Given the description of an element on the screen output the (x, y) to click on. 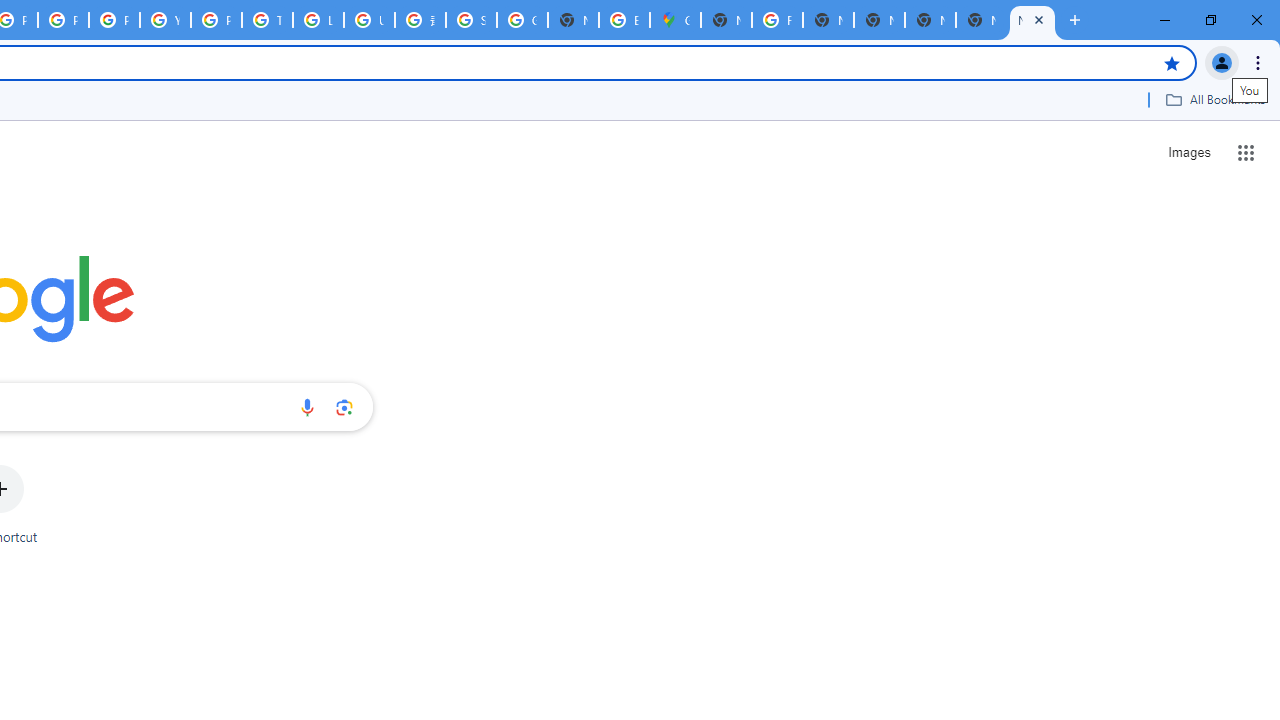
New Tab (981, 20)
YouTube (164, 20)
Google Maps (675, 20)
Tips & tricks for Chrome - Google Chrome Help (267, 20)
New Tab (726, 20)
New Tab (1032, 20)
Search by image (344, 407)
